Given the description of an element on the screen output the (x, y) to click on. 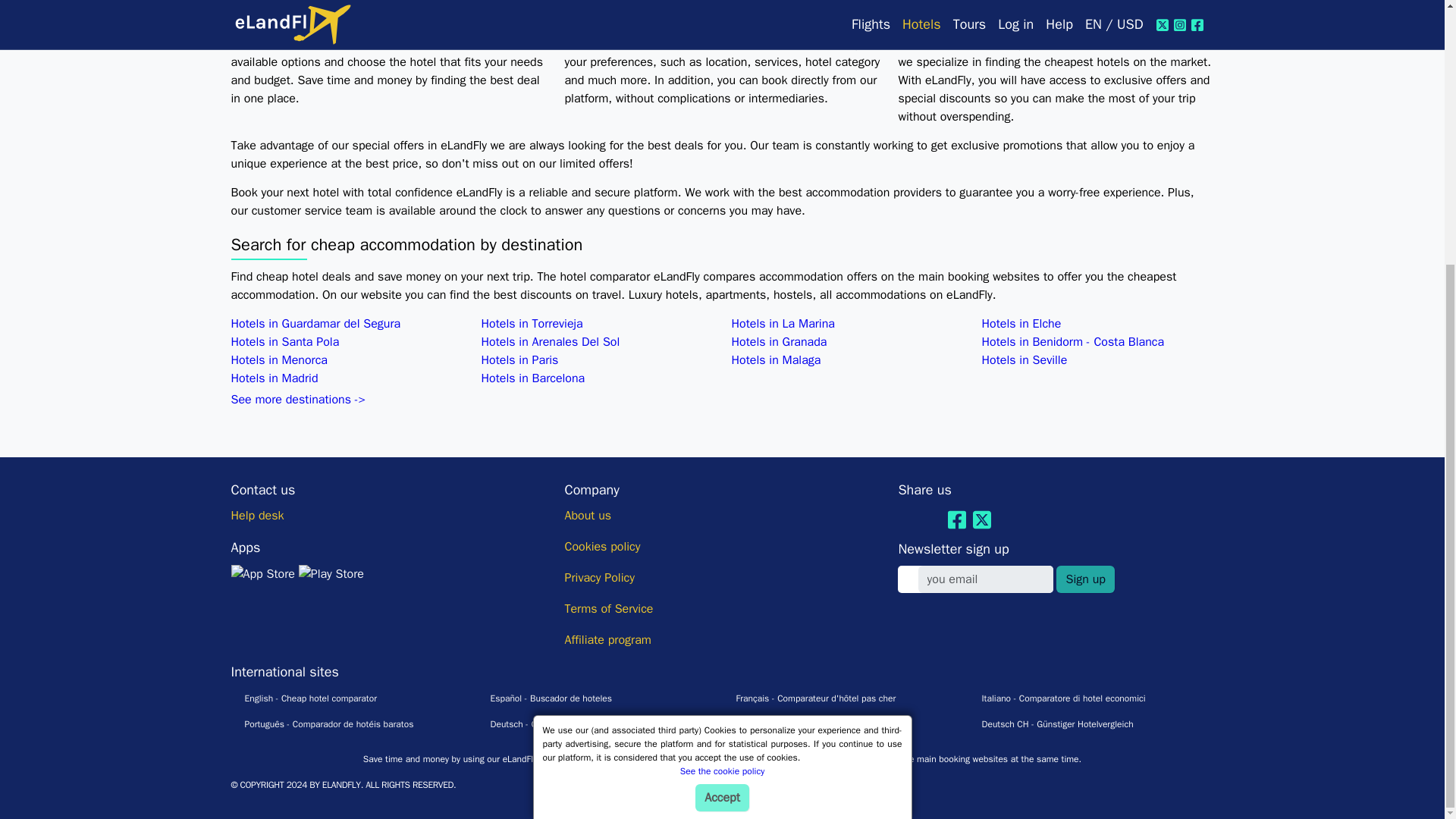
Help desk (256, 515)
Hotels in Paris (518, 359)
Hotels in Santa Pola (284, 341)
Hotels in La Marina (782, 323)
About us (587, 515)
Hotels in Benidorm - Costa Blanca (1072, 341)
Hotels in Madrid (273, 378)
Affiliate program (607, 639)
Hotels in Torrevieja (531, 323)
Terms of Service (608, 608)
Hotels in Granada (778, 341)
Privacy Policy (598, 577)
Hotels in Barcelona (532, 378)
Hotels in Guardamar del Segura (315, 323)
Cookies policy (602, 546)
